Given the description of an element on the screen output the (x, y) to click on. 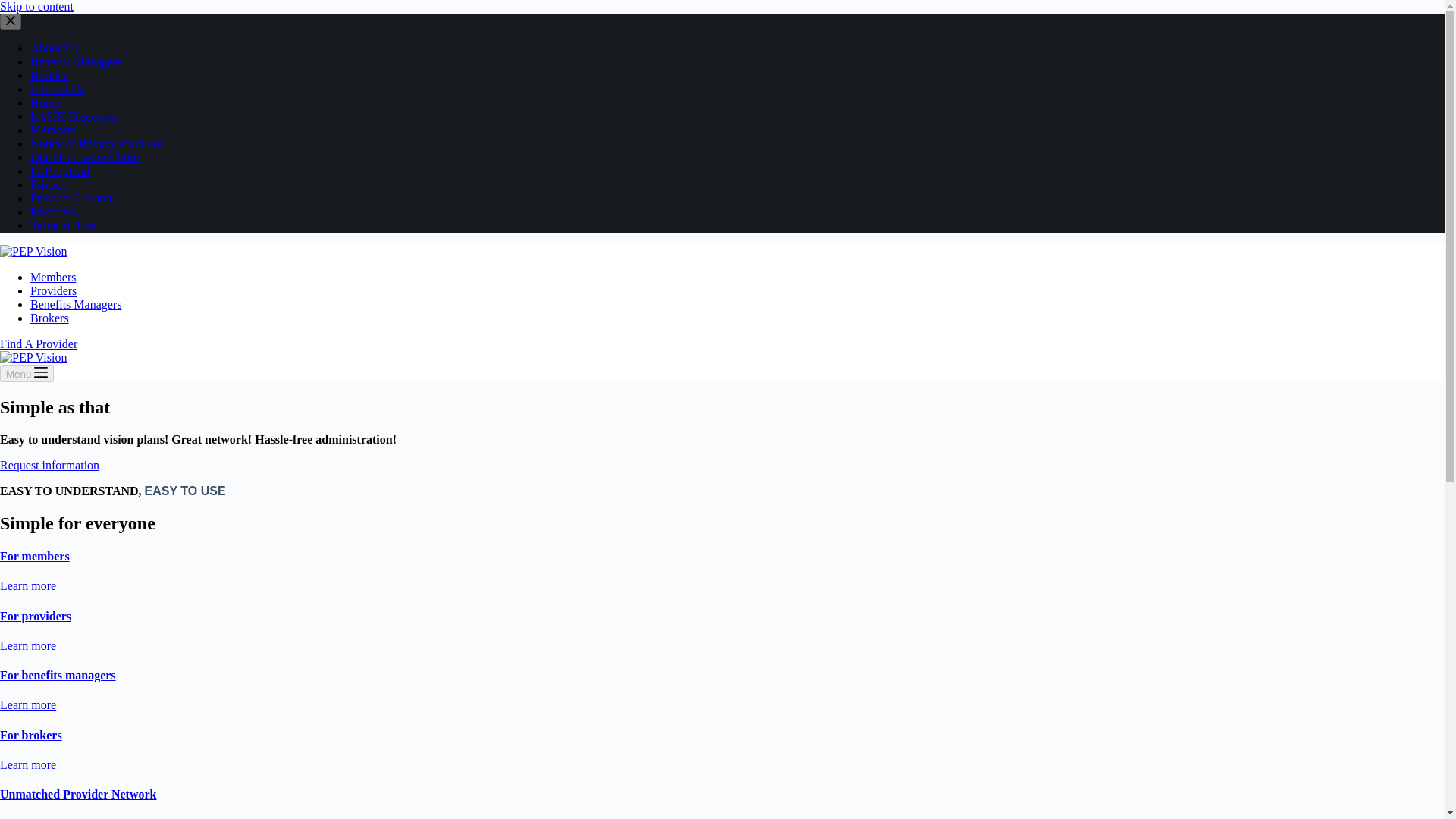
For benefits managers (58, 675)
Learn more (28, 645)
Request information (49, 464)
Terms of Use (63, 225)
Providers (53, 290)
About Us (53, 47)
Privacy (48, 184)
Find A Provider (38, 343)
Providers (53, 211)
Members (52, 277)
For members (34, 555)
For providers (35, 615)
Skip to content (37, 6)
PEP Optical (59, 170)
Members (52, 129)
